Given the description of an element on the screen output the (x, y) to click on. 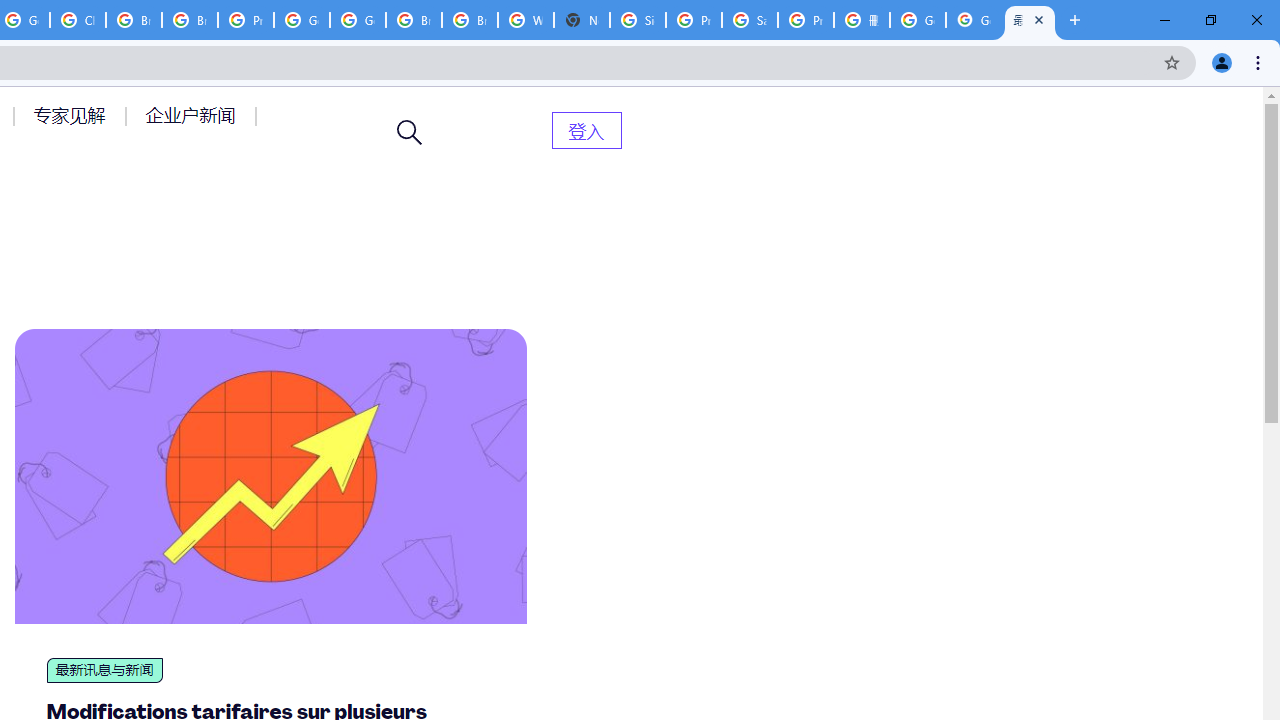
Browse Chrome as a guest - Computer - Google Chrome Help (189, 20)
New Tab (582, 20)
AutomationID: menu-item-82399 (586, 129)
Sign in - Google Accounts (637, 20)
